Given the description of an element on the screen output the (x, y) to click on. 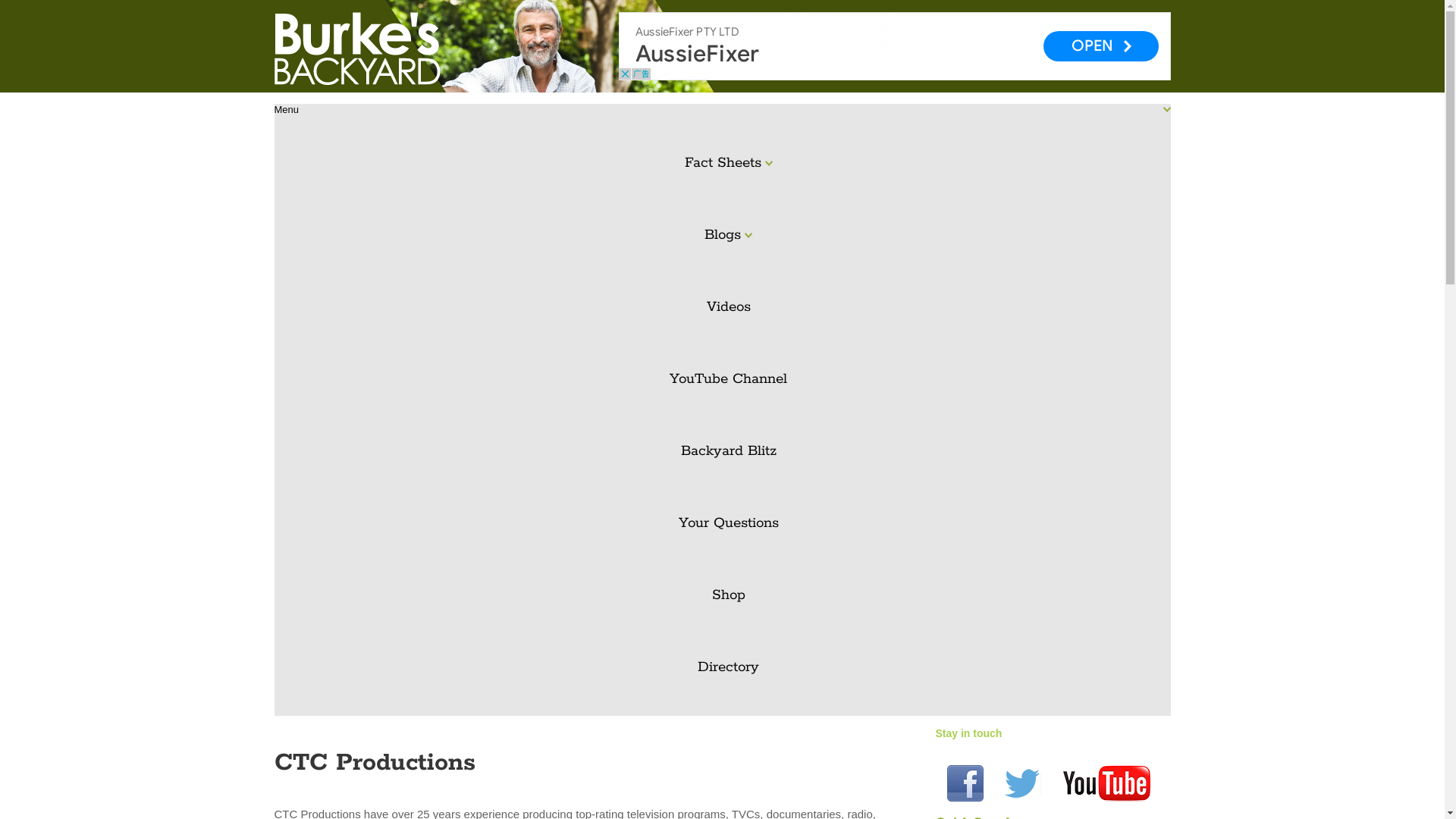
Blogs Element type: text (728, 235)
Burke's Backyard Element type: hover (394, 48)
Directory Element type: text (728, 667)
Your Questions Element type: text (728, 523)
Videos Element type: text (728, 307)
Fact Sheets Element type: text (728, 163)
3rd party ad content Element type: hover (894, 46)
Backyard Blitz Element type: text (728, 451)
YouTube Channel Element type: text (728, 379)
Shop Element type: text (728, 595)
Skip to content Element type: text (273, 103)
